Given the description of an element on the screen output the (x, y) to click on. 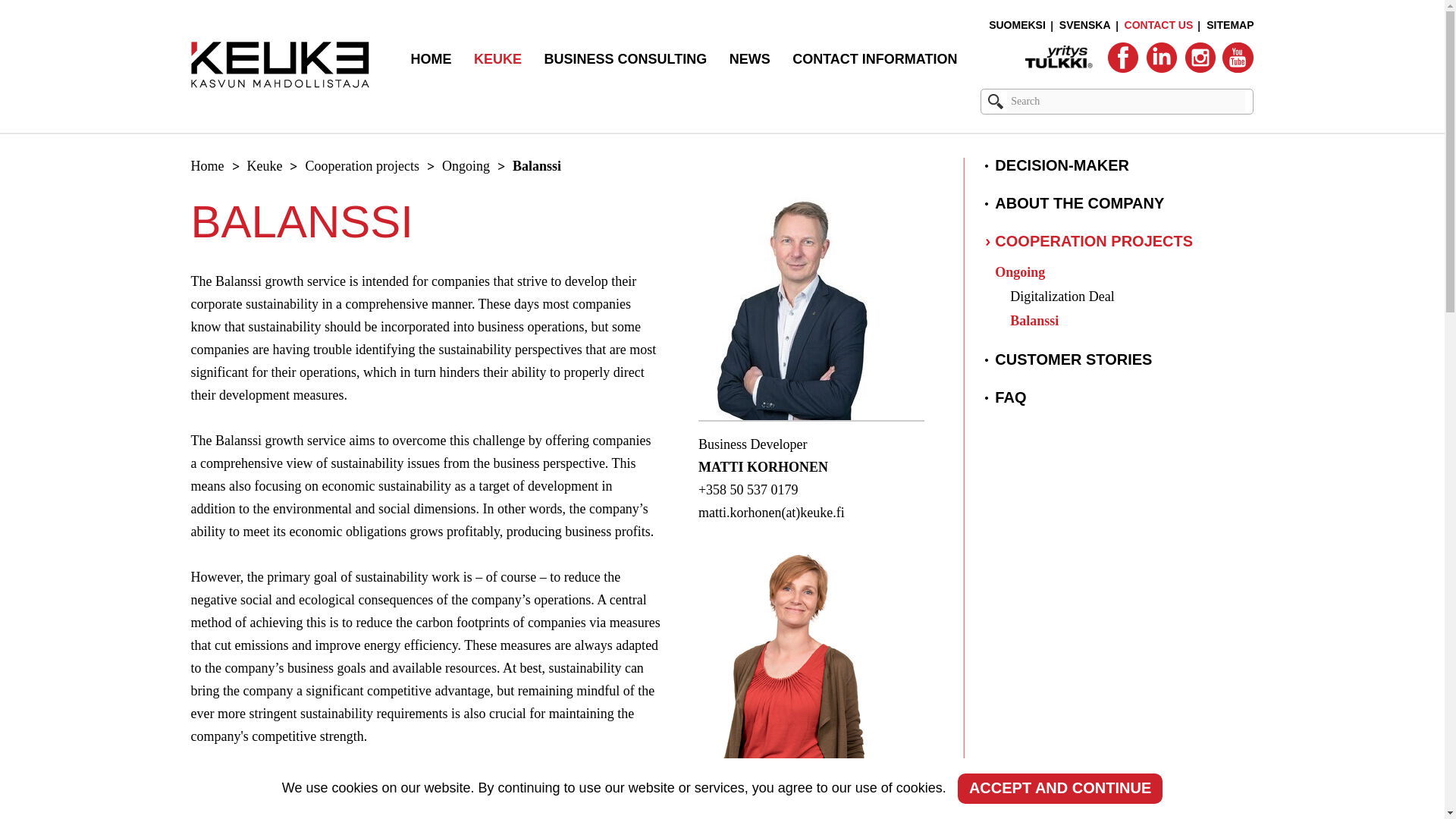
Search (1125, 101)
Search (1125, 101)
Search (1125, 101)
Accept and continue (1059, 788)
Search (995, 101)
